Given the description of an element on the screen output the (x, y) to click on. 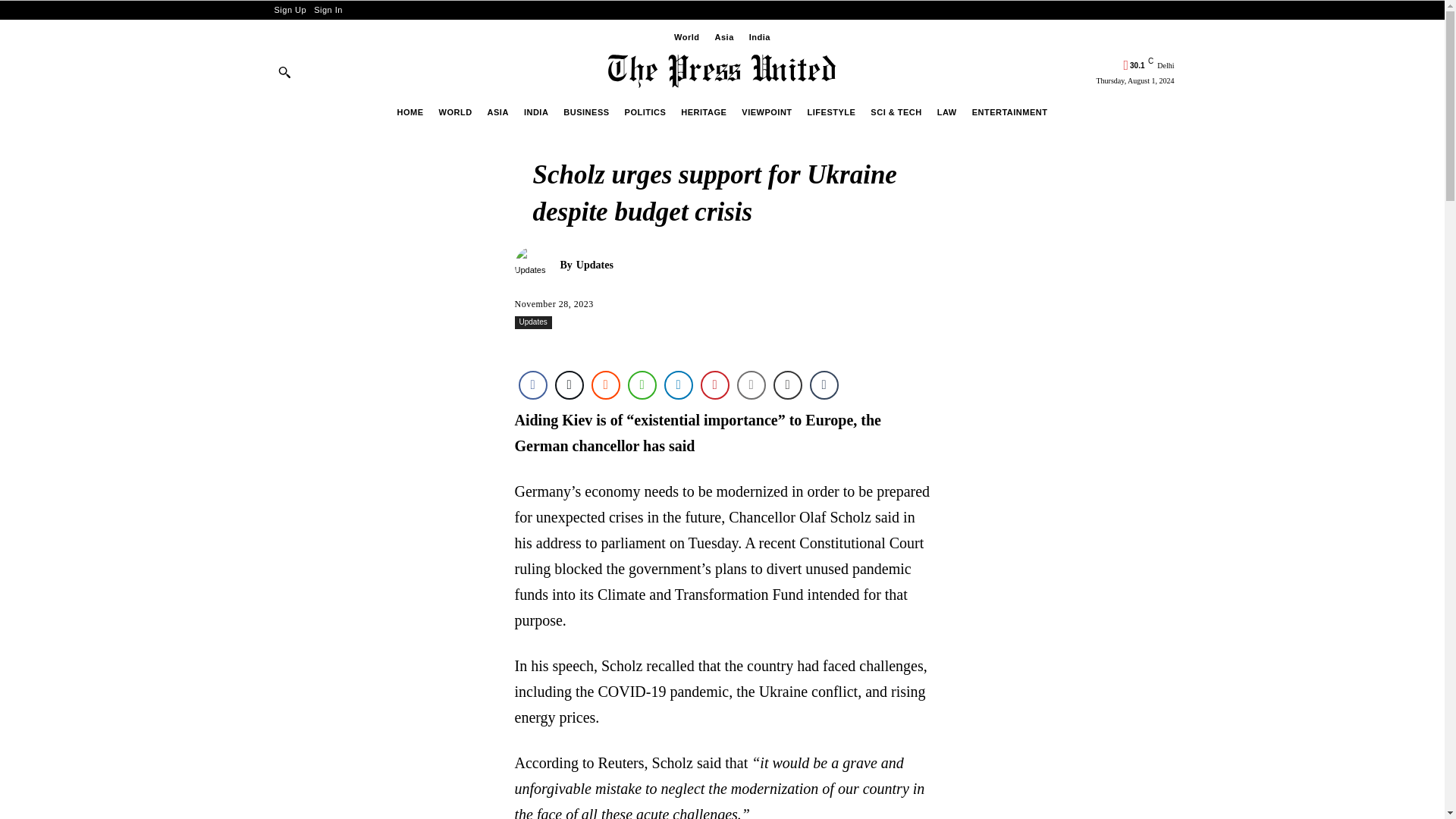
INDIA (535, 112)
LIFESTYLE (831, 112)
HOME (410, 112)
ASIA (497, 112)
Sign Up (289, 9)
Asia (724, 36)
World (686, 36)
LAW (946, 112)
POLITICS (645, 112)
HERITAGE (703, 112)
India (759, 36)
VIEWPOINT (766, 112)
ENTERTAINMENT (1009, 112)
Updates (536, 265)
Sign In (328, 9)
